Given the description of an element on the screen output the (x, y) to click on. 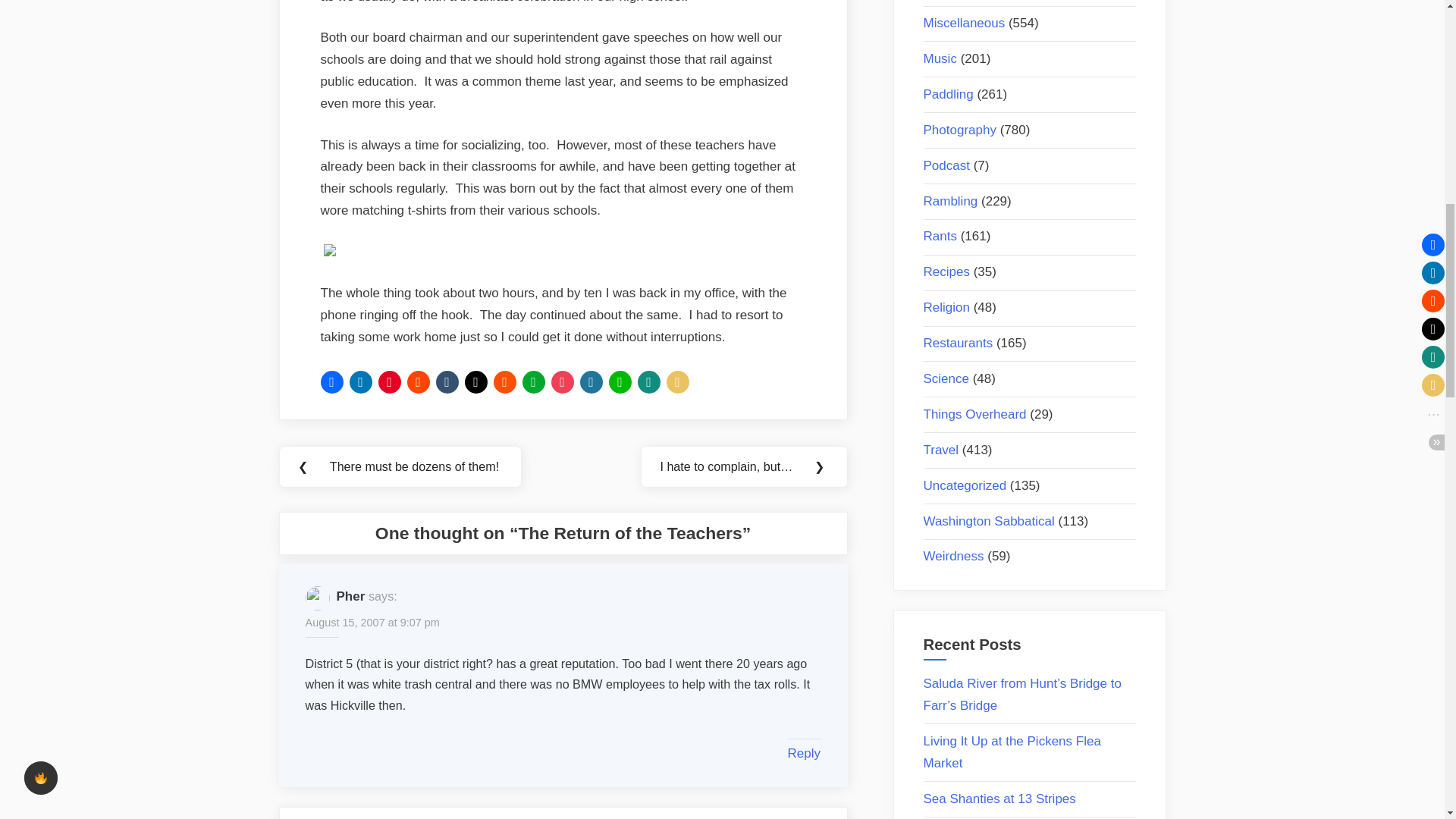
Paddling (948, 93)
Music (939, 58)
Miscellaneous (964, 22)
August 15, 2007 at 9:07 pm (371, 623)
Teachers (329, 251)
Reply (803, 753)
